Given the description of an element on the screen output the (x, y) to click on. 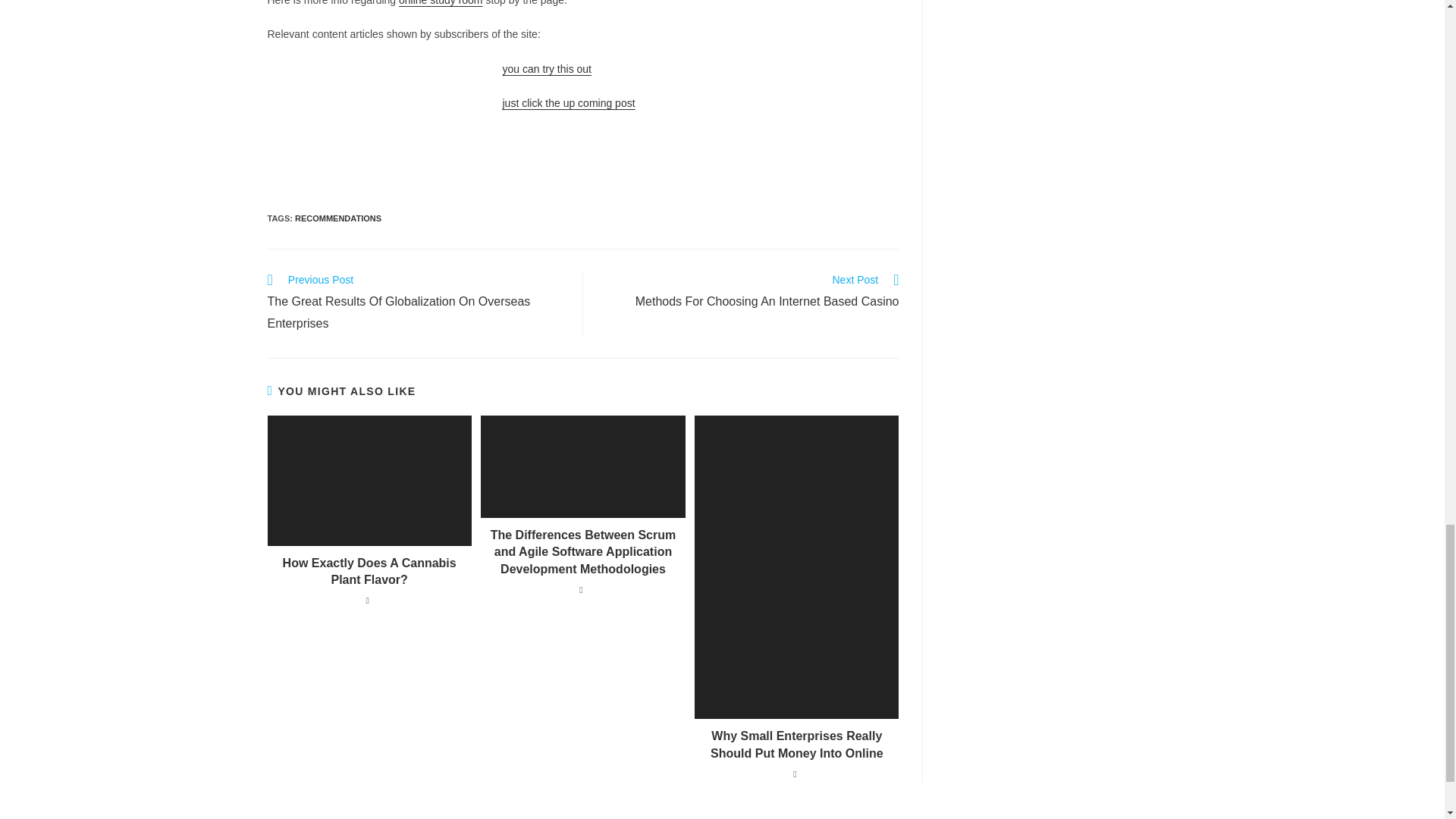
you can try this out (748, 291)
just click the up coming post (546, 69)
How Exactly Does A Cannabis Plant Flavor? (568, 102)
online study room (368, 571)
RECOMMENDATIONS (440, 2)
Why Small Enterprises Really Should Put Money Into Online (338, 217)
